Given the description of an element on the screen output the (x, y) to click on. 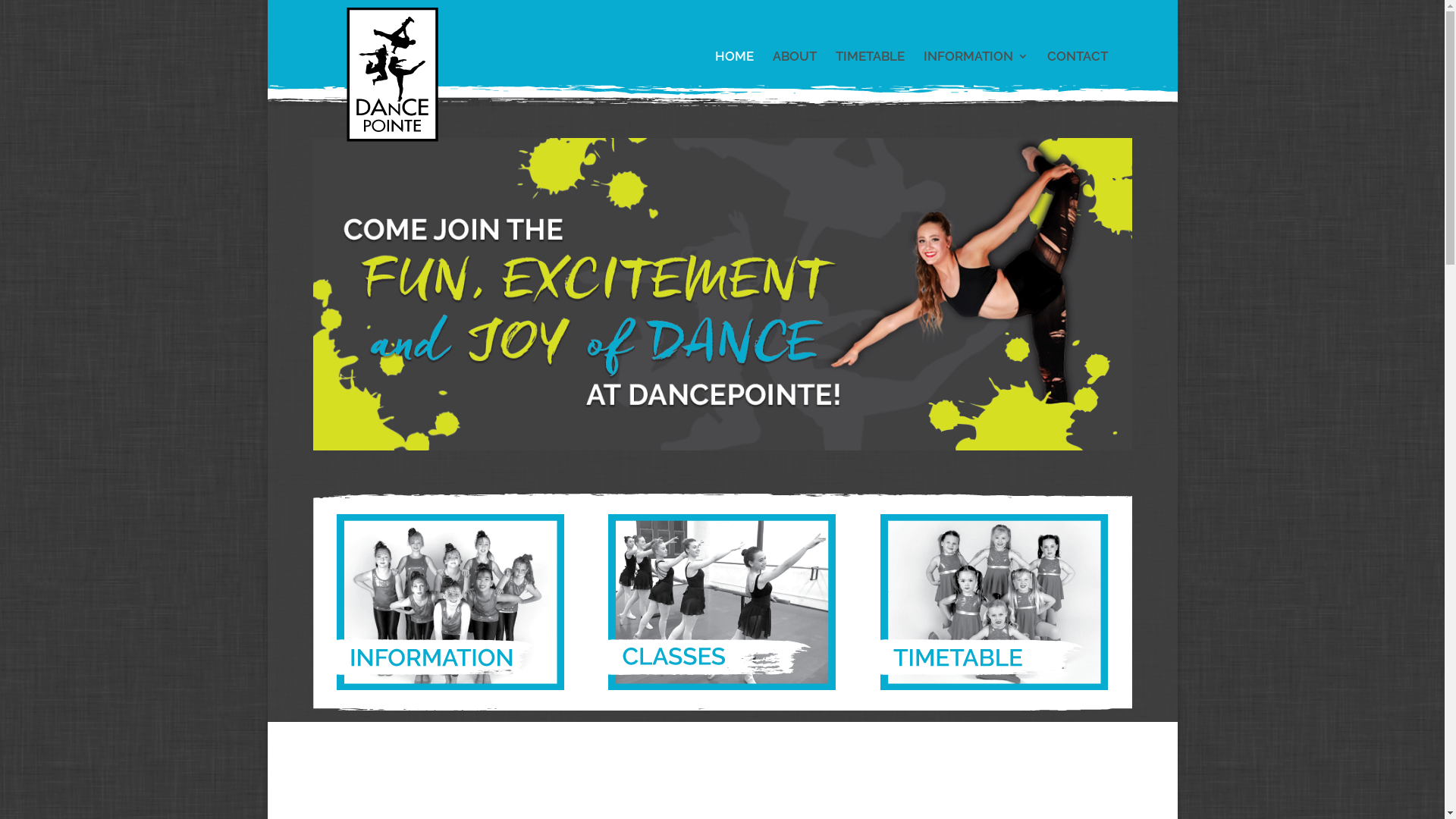
HOME Element type: text (733, 69)
TIMETABLE Element type: text (869, 69)
ABOUT Element type: text (793, 69)
CONTACT Element type: text (1076, 69)
INFORMATION Element type: text (975, 69)
